Given the description of an element on the screen output the (x, y) to click on. 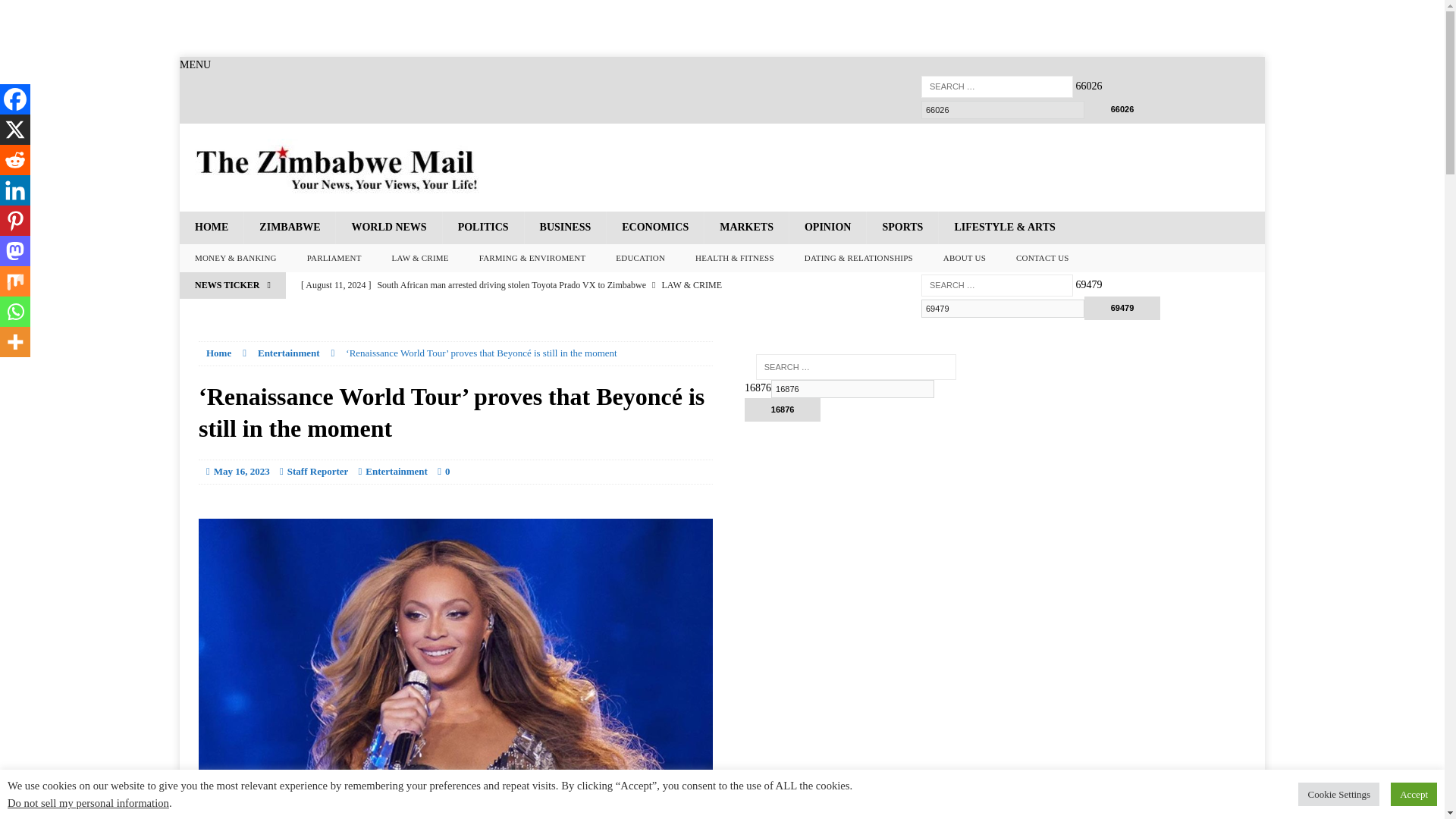
CONTACT US (1042, 258)
WORLD NEWS (387, 227)
OPINION (827, 227)
MARKETS (746, 227)
16876 (852, 389)
69479 (1002, 308)
66026 (1122, 109)
BUSINESS (565, 227)
69479 (1002, 308)
HOME (211, 227)
